Given the description of an element on the screen output the (x, y) to click on. 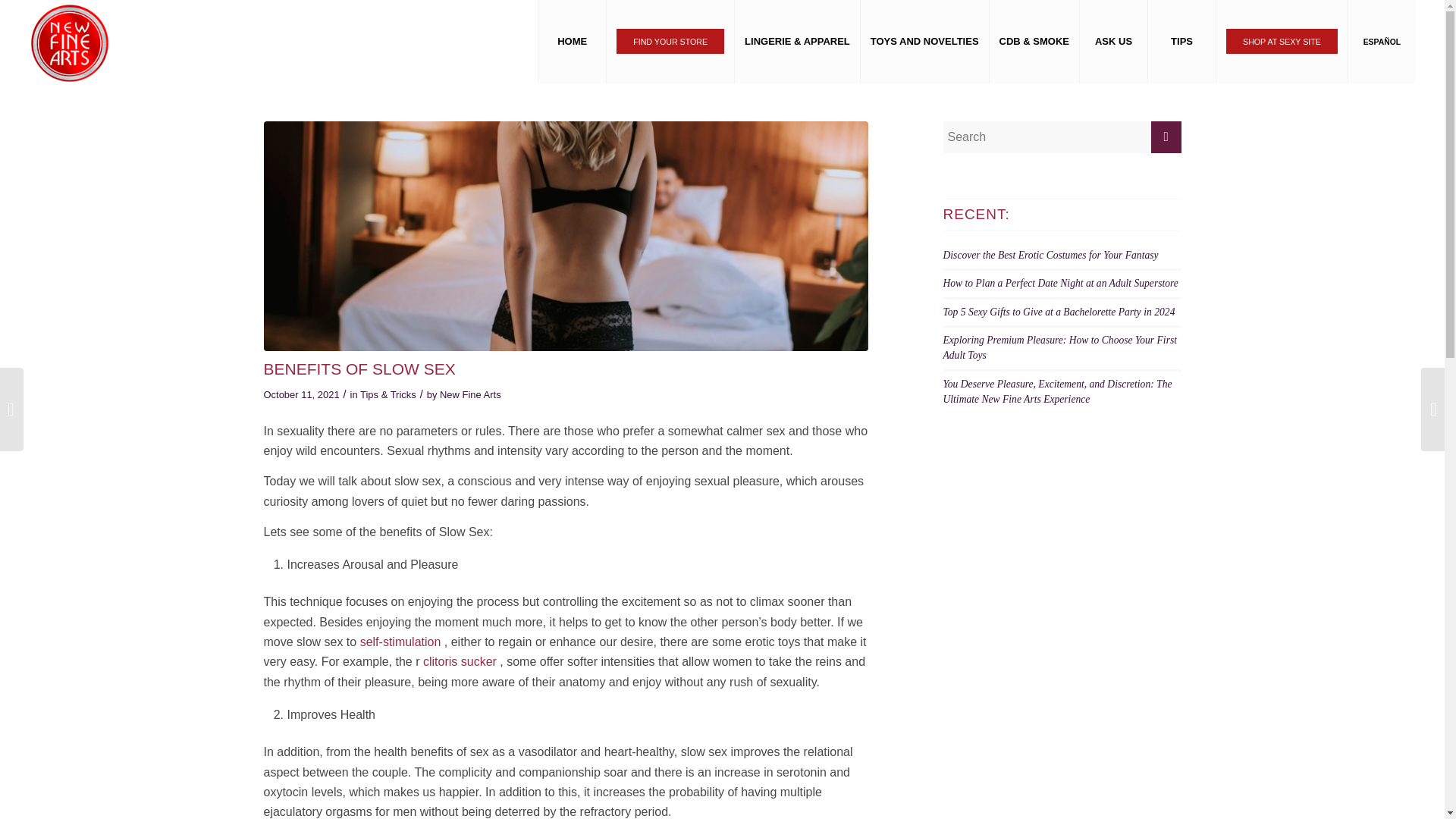
Discover the Best Erotic Costumes for Your Fantasy (1050, 255)
Posts by New Fine Arts (469, 394)
FIND YOUR STORE (669, 41)
How to Plan a Perfect Date Night at an Adult Superstore (1060, 283)
SHOP AT SEXY SITE (1281, 41)
Top 5 Sexy Gifts to Give at a Bachelorette Party in 2024 (1058, 311)
TOYS AND NOVELTIES (924, 41)
New Fine Arts (469, 394)
clitoris sucker (459, 661)
FIND YOUR STORE (669, 41)
SHOP AT SEXY SITE (1281, 41)
self-stimulation (400, 641)
